Given the description of an element on the screen output the (x, y) to click on. 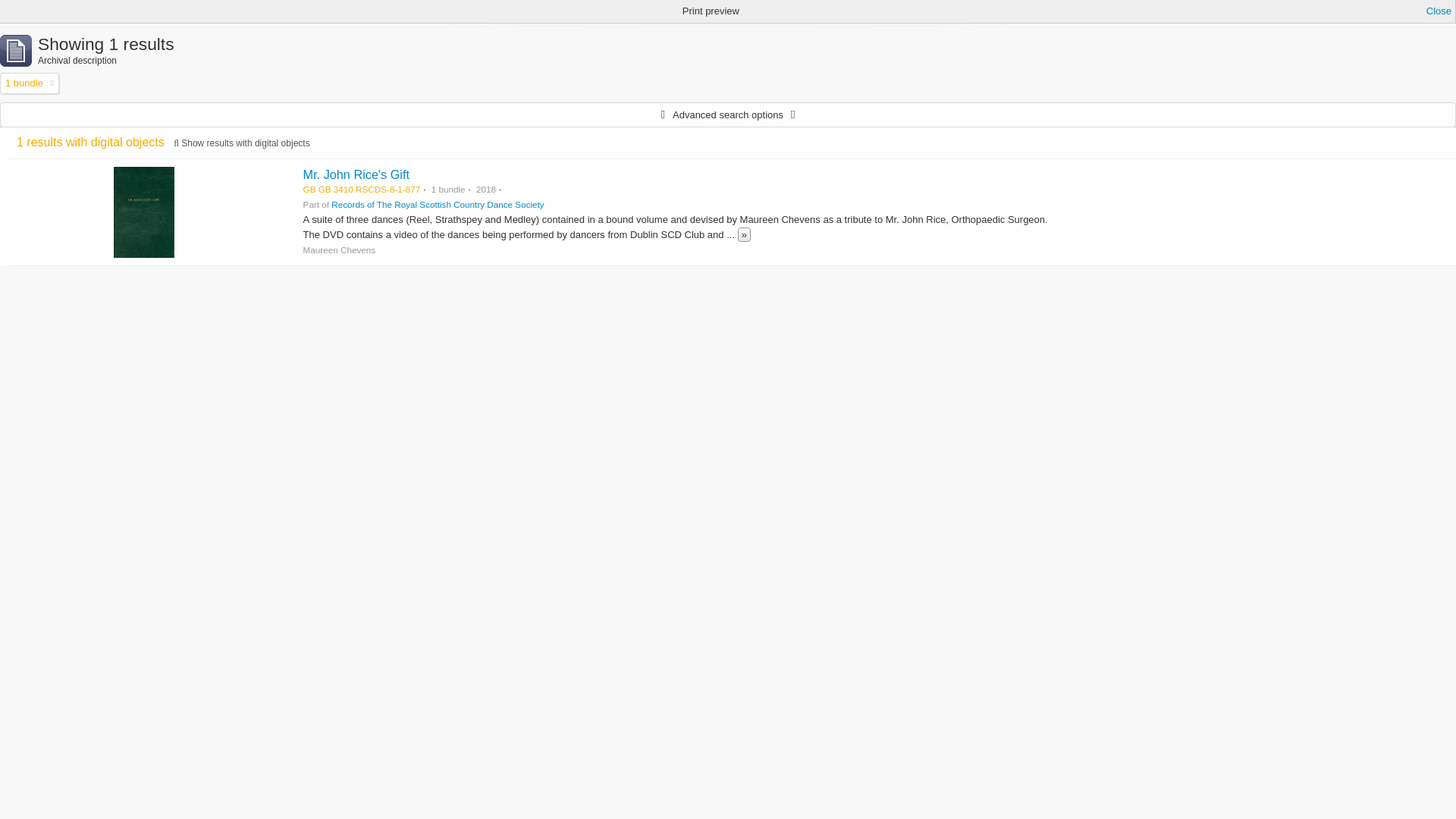
Advanced search options (727, 114)
Close (1438, 11)
